Given the description of an element on the screen output the (x, y) to click on. 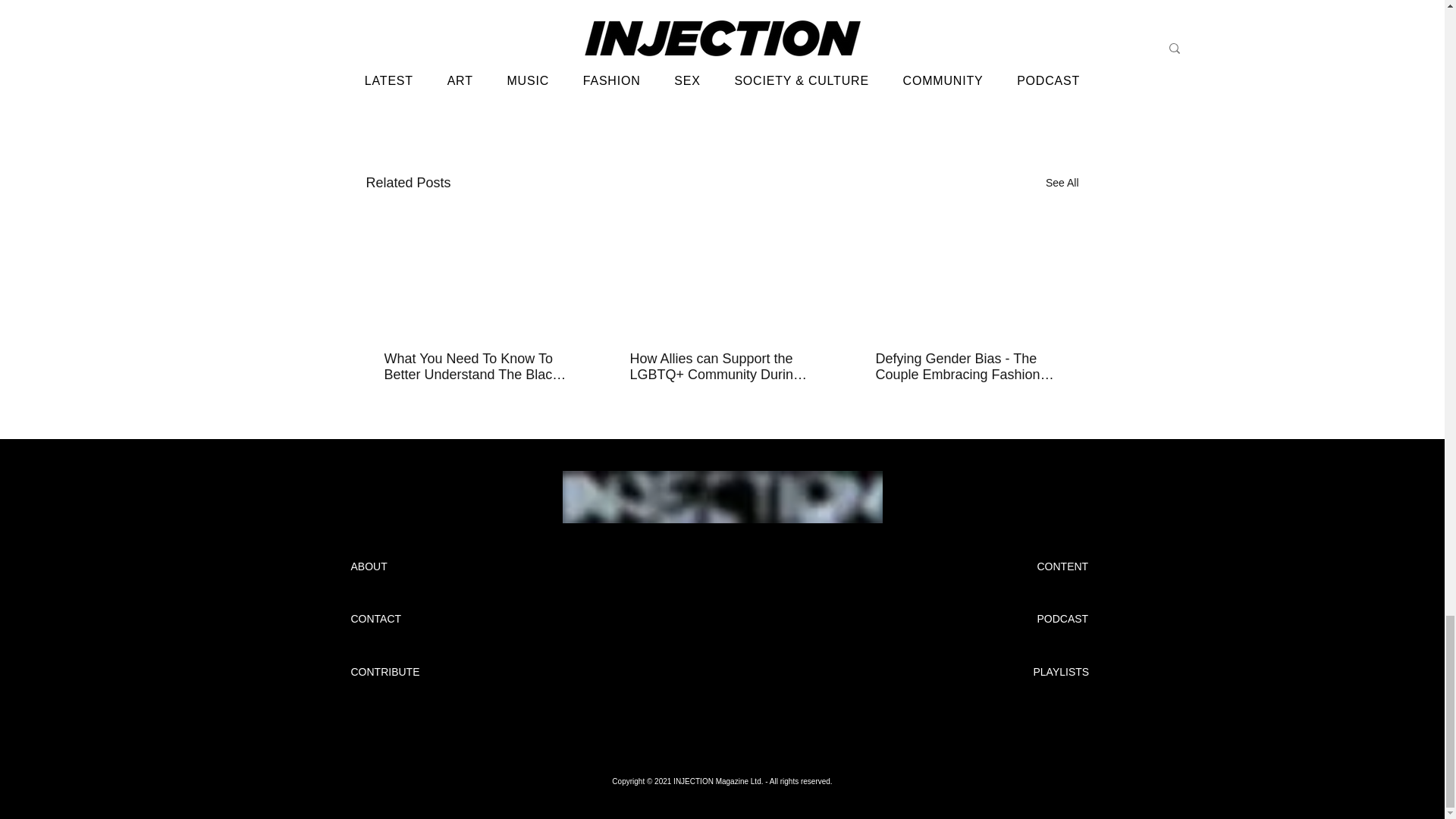
sitcoms (855, 5)
Sex and the city (489, 28)
accountability (614, 5)
and just like that (591, 28)
comfort shows (763, 28)
white privilege (778, 5)
Friends (916, 5)
TV shows (695, 5)
entertainment industry (503, 5)
exclusivity (679, 28)
